Given the description of an element on the screen output the (x, y) to click on. 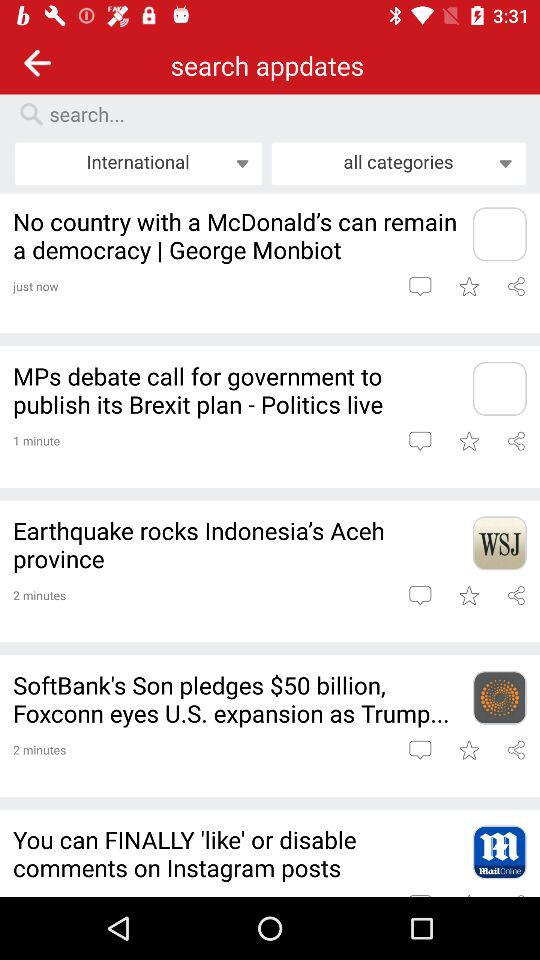
news source logo (499, 388)
